Given the description of an element on the screen output the (x, y) to click on. 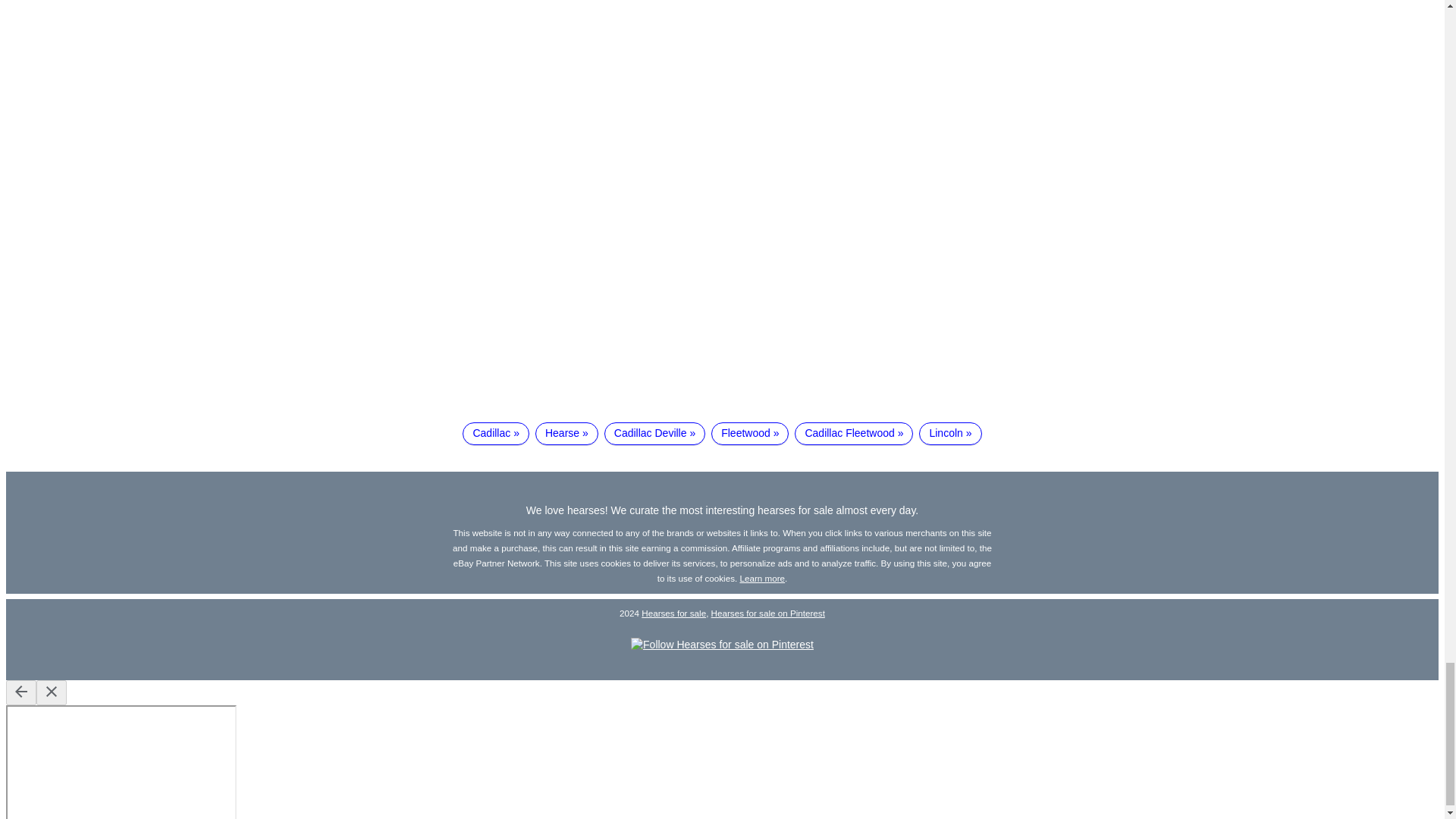
Cadillac Deville (654, 433)
Fleetwood (750, 433)
Hearses for sale on Pinterest (768, 613)
Learn more (762, 578)
Cadillac (496, 433)
Hearse (566, 433)
Follow Hearses for sale on Pinterest (721, 644)
Hearses for sale (674, 613)
Cadillac Fleetwood (853, 433)
Lincoln (949, 433)
